Given the description of an element on the screen output the (x, y) to click on. 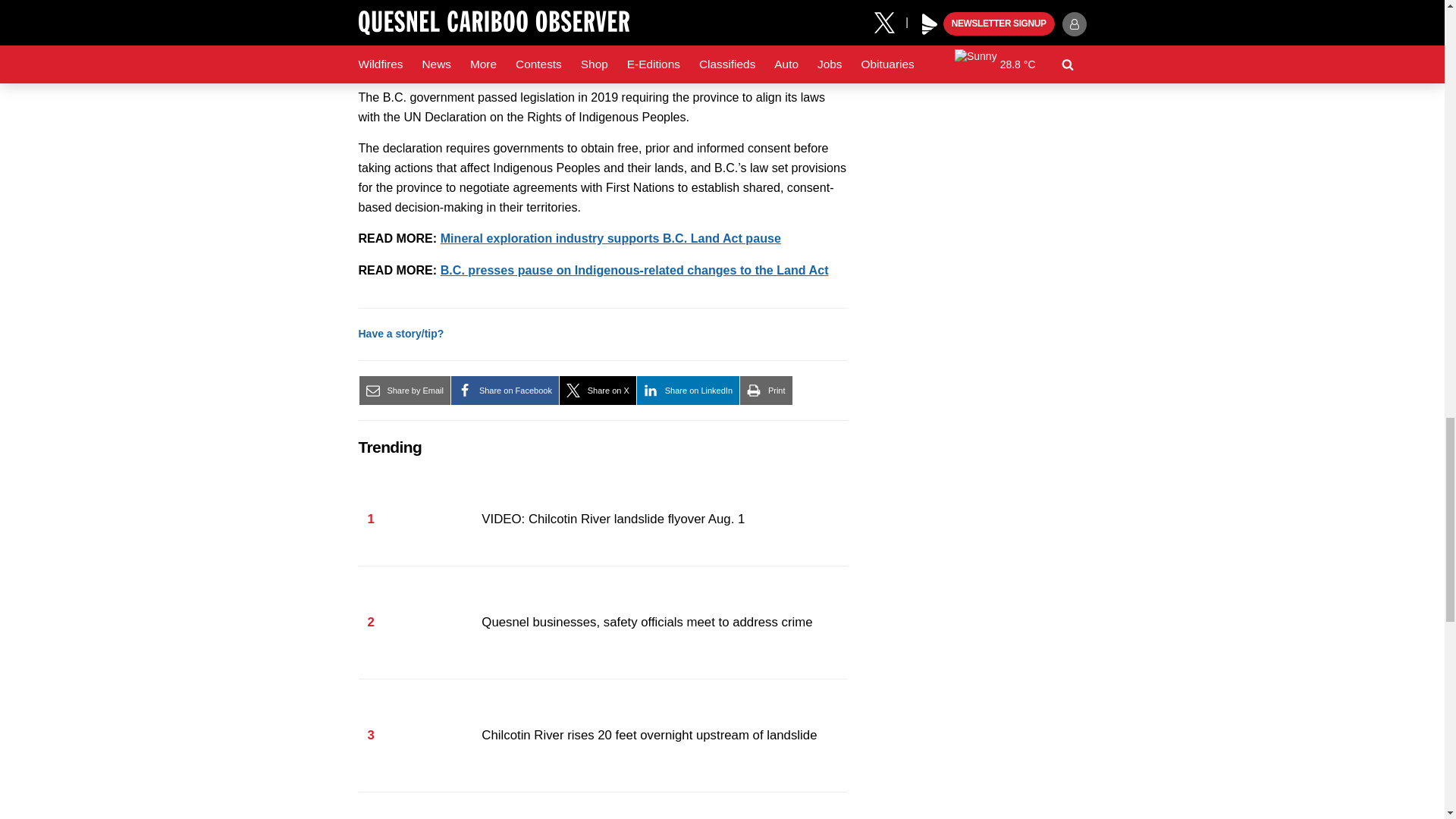
related story (610, 237)
related story (634, 269)
